Given the description of an element on the screen output the (x, y) to click on. 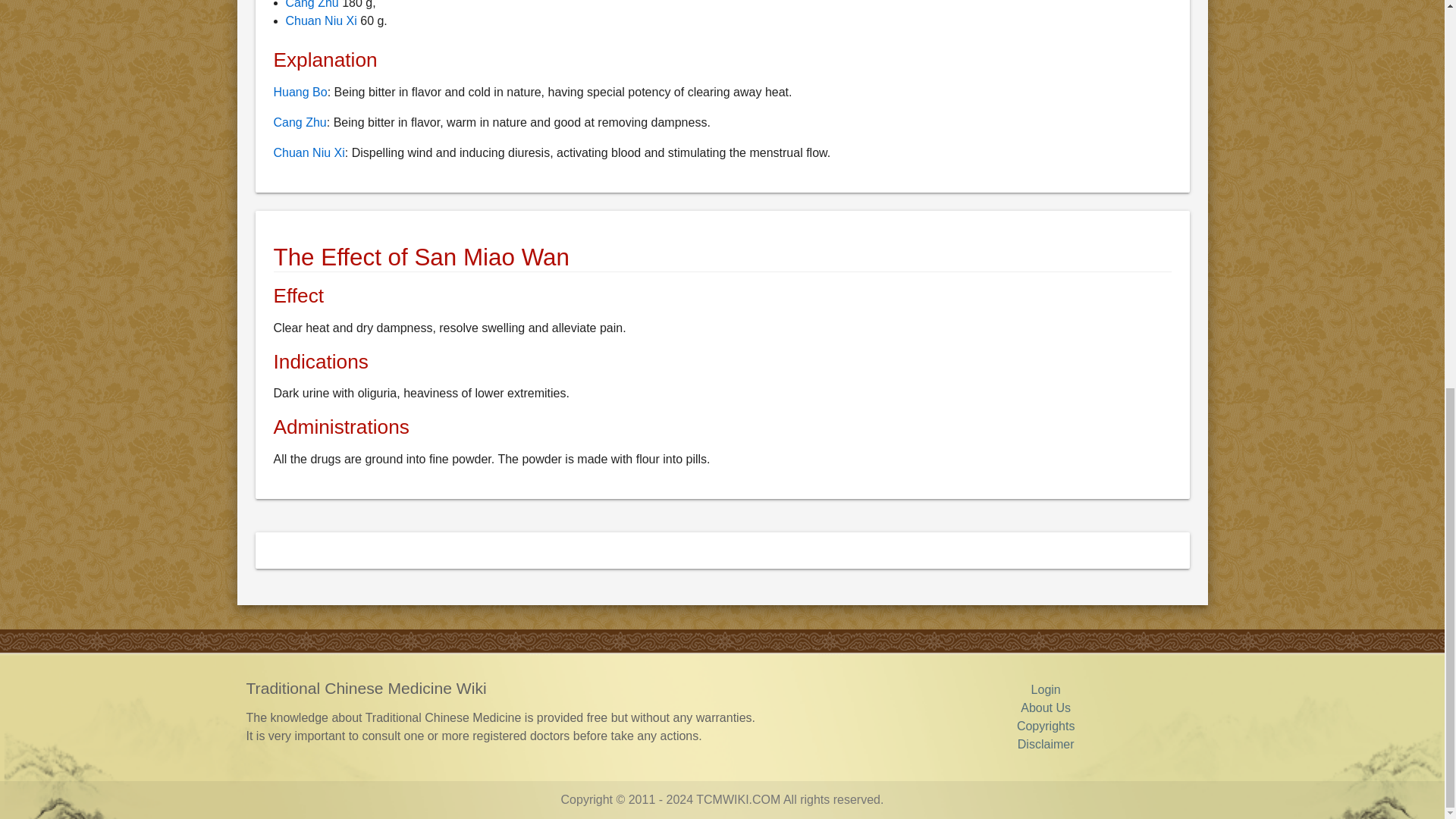
Chuan Niu Xi (308, 152)
About Us (1045, 707)
Chuan Niu Xi (320, 20)
Cang Zhu (311, 4)
Login (1045, 689)
Copyrights (1045, 725)
Huang Bo (299, 91)
Cang Zhu (299, 122)
Disclaimer (1045, 744)
